Given the description of an element on the screen output the (x, y) to click on. 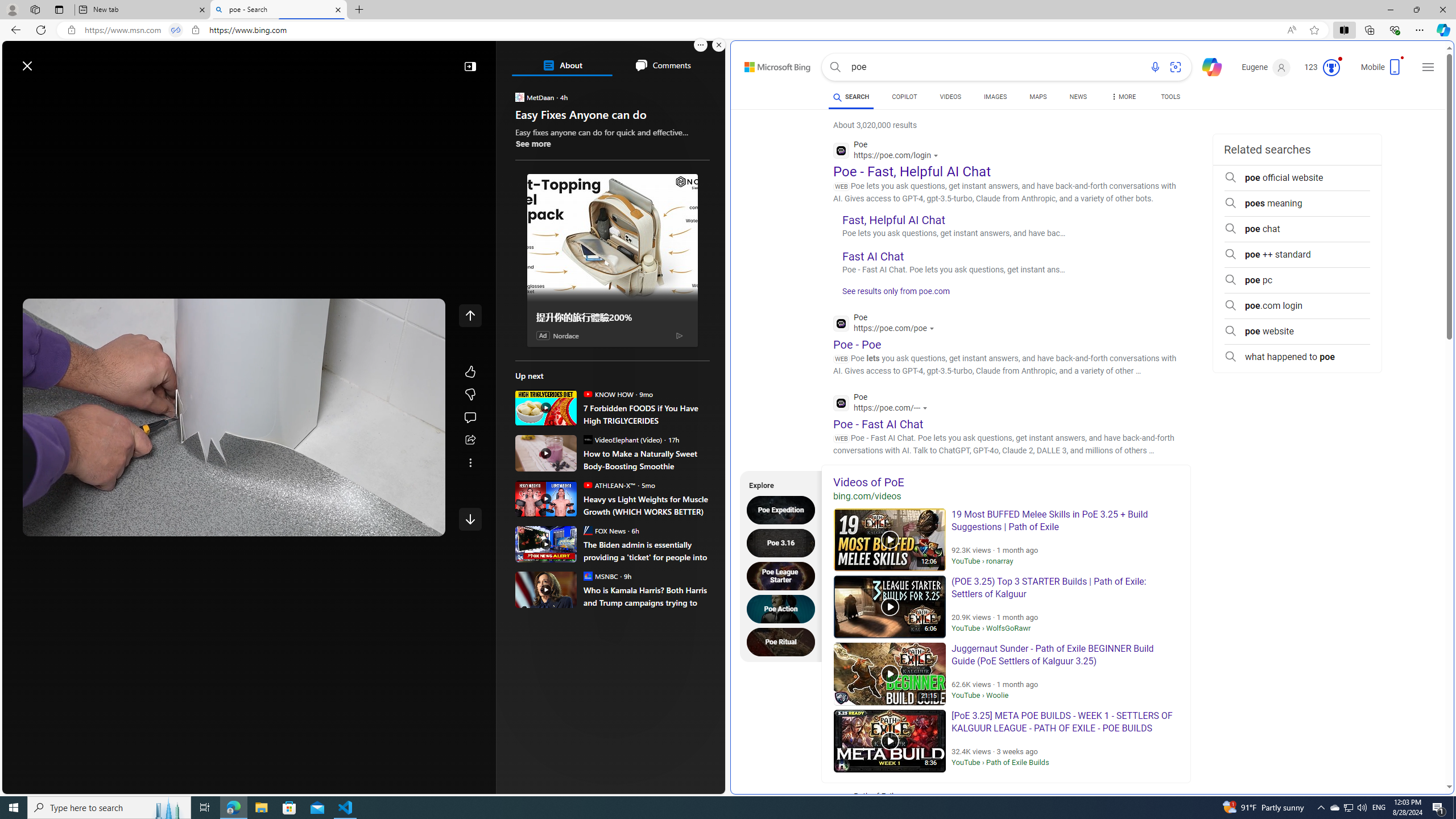
MetDaan (519, 96)
VideoElephant (Video) VideoElephant (Video) (622, 438)
SEARCH (850, 96)
The Associated Press (554, 366)
Search using an image (1174, 66)
See results only from poe.com (891, 294)
Enter your search term (366, 59)
